Given the description of an element on the screen output the (x, y) to click on. 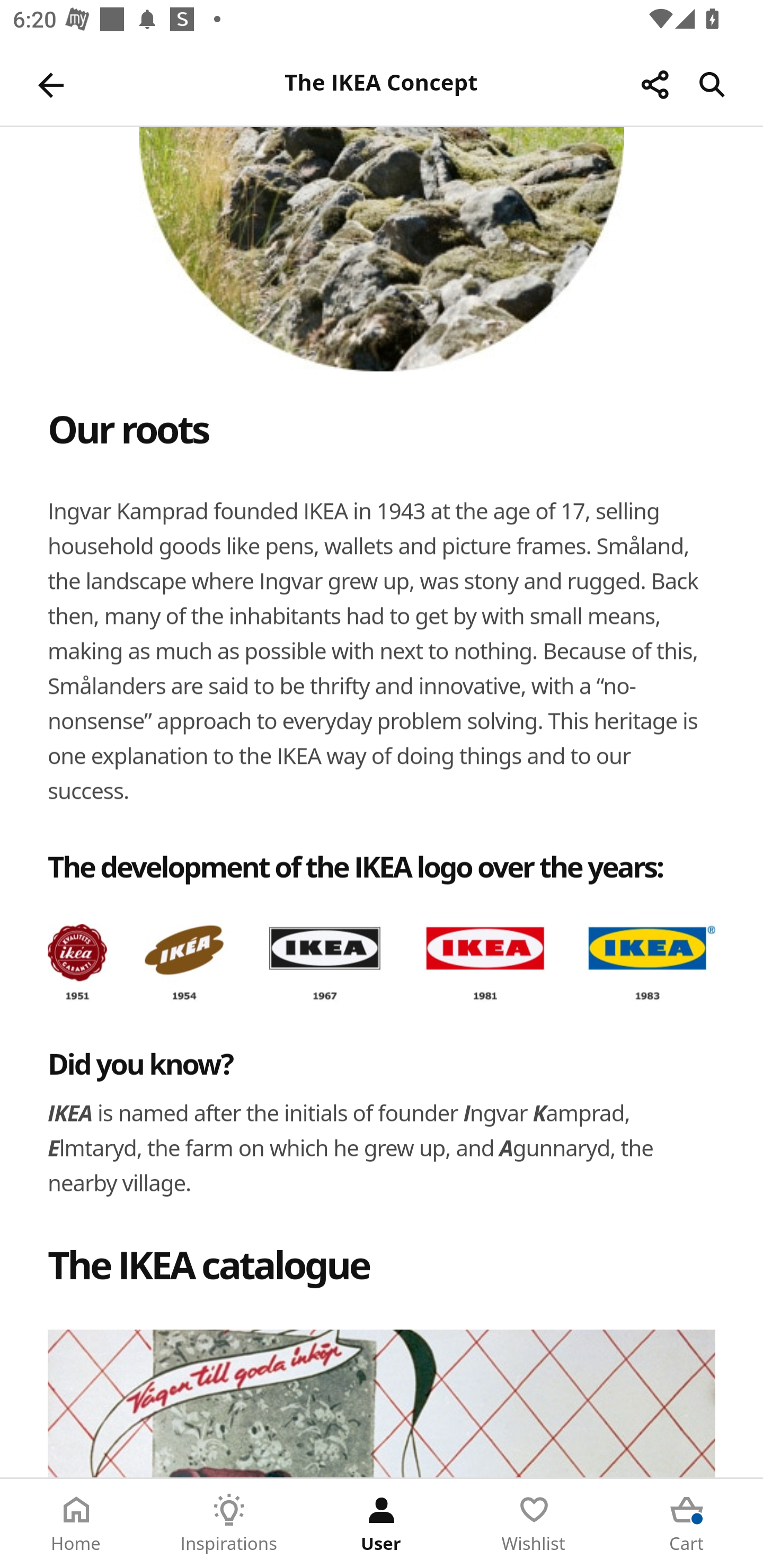
Home
Tab 1 of 5 (76, 1522)
Inspirations
Tab 2 of 5 (228, 1522)
User
Tab 3 of 5 (381, 1522)
Wishlist
Tab 4 of 5 (533, 1522)
Cart
Tab 5 of 5 (686, 1522)
